Given the description of an element on the screen output the (x, y) to click on. 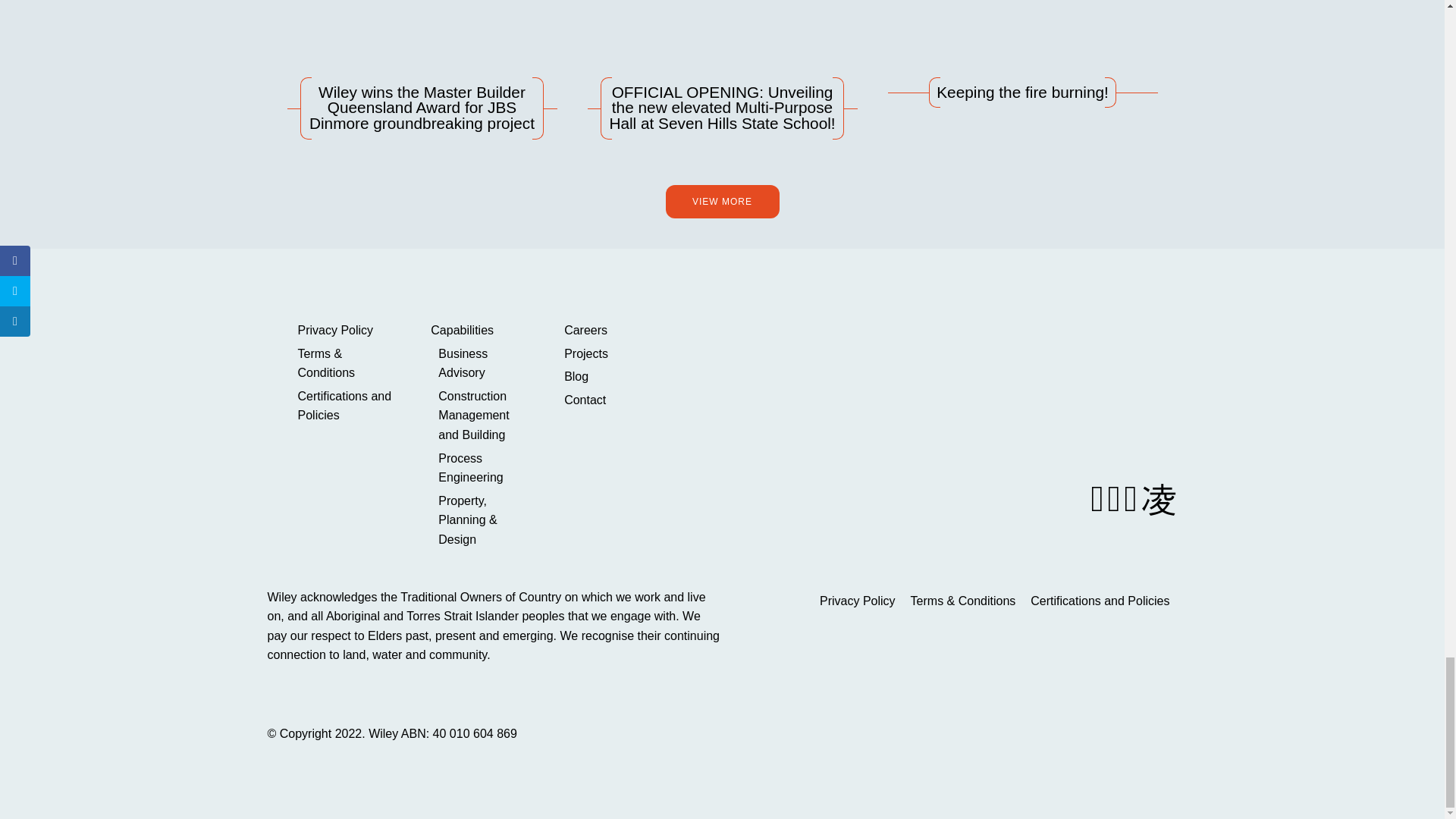
Projects (611, 353)
Projects (611, 353)
Construction Management and Building (481, 415)
Process Engineering (481, 467)
Construction Management and Building (481, 415)
Privacy Policy (345, 330)
Certifications and Policies (345, 405)
VIEW MORE (721, 201)
